Given the description of an element on the screen output the (x, y) to click on. 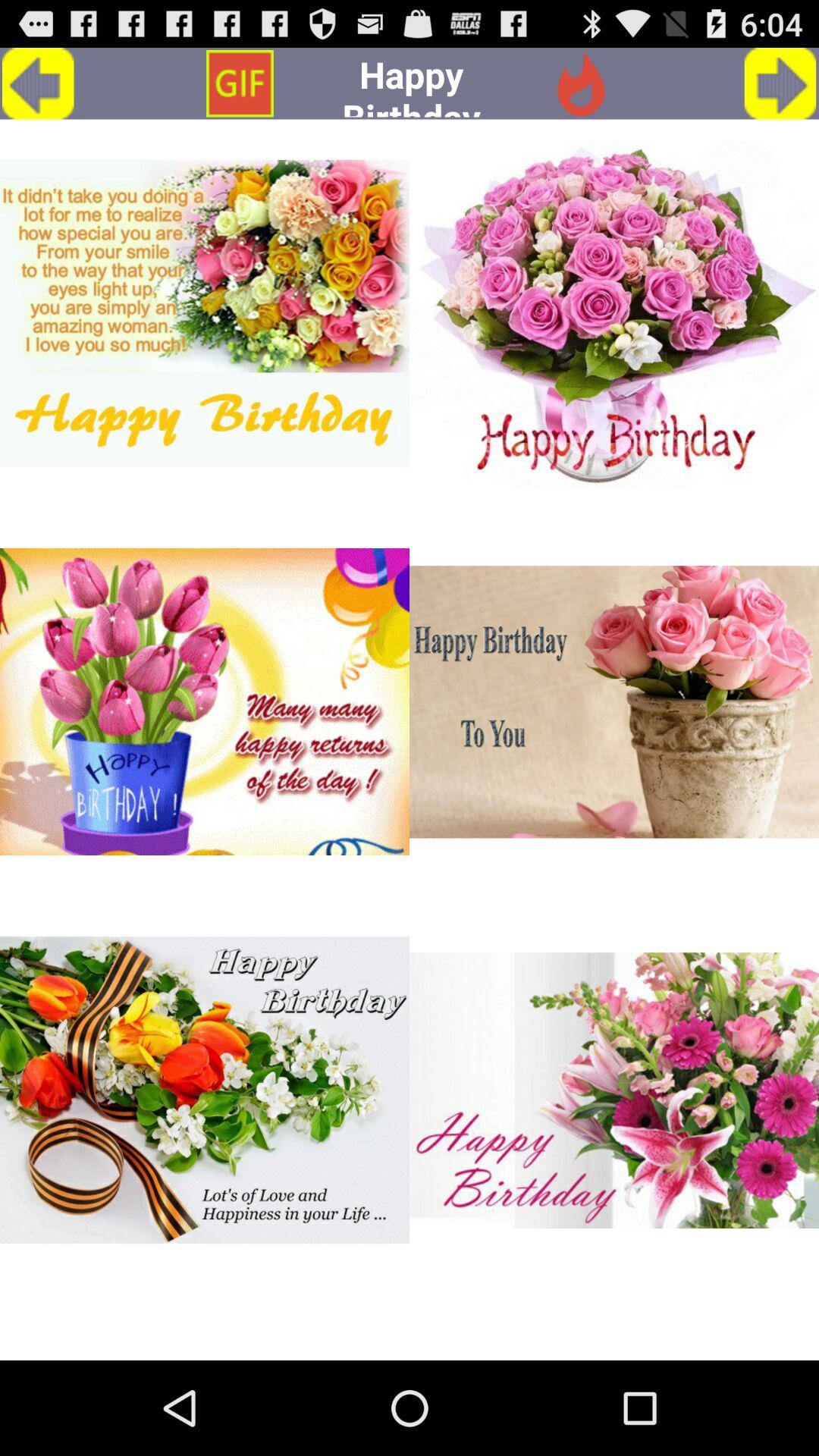
select gif (204, 313)
